Given the description of an element on the screen output the (x, y) to click on. 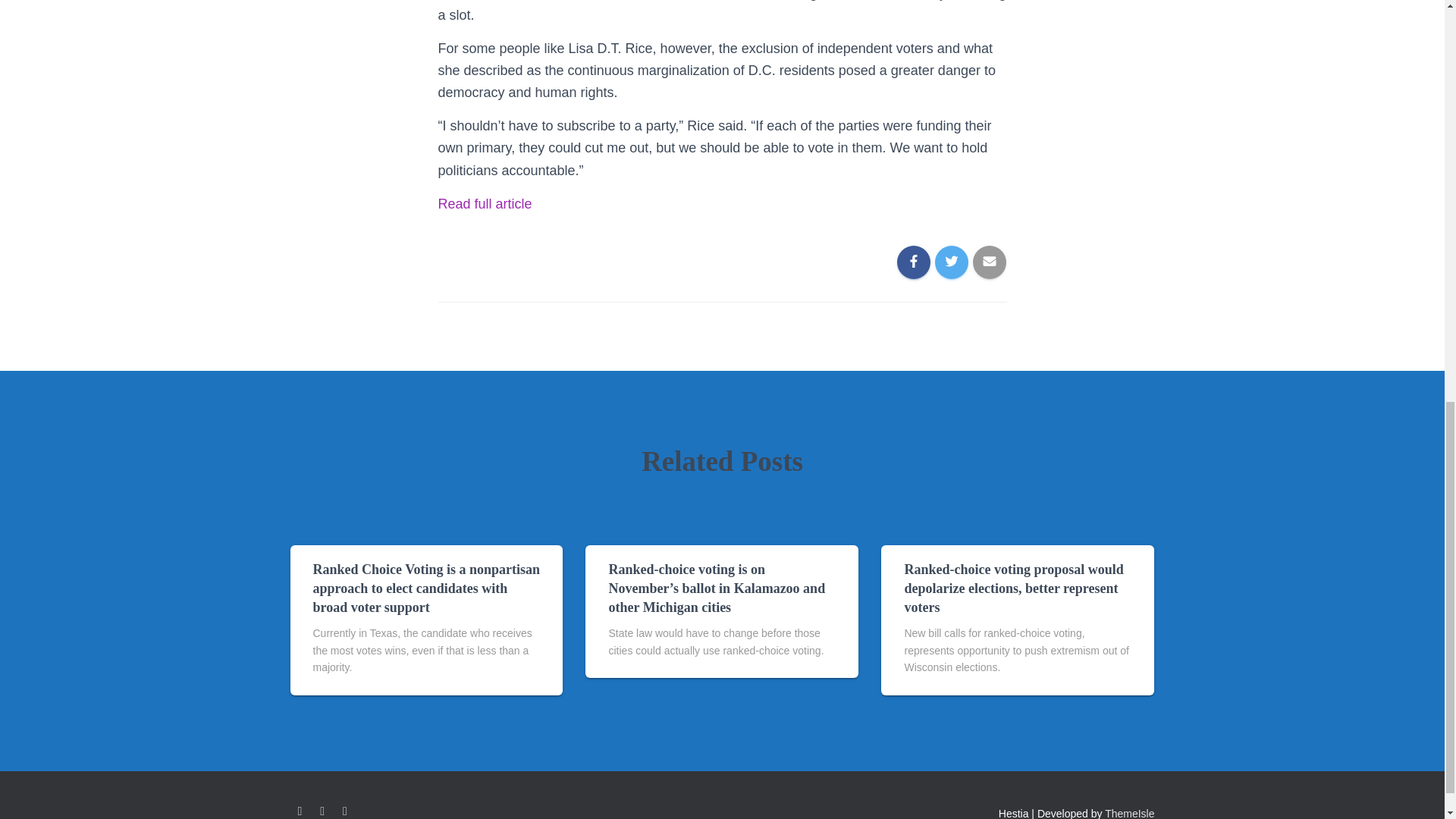
Read full article (485, 203)
ThemeIsle (1129, 813)
